Given the description of an element on the screen output the (x, y) to click on. 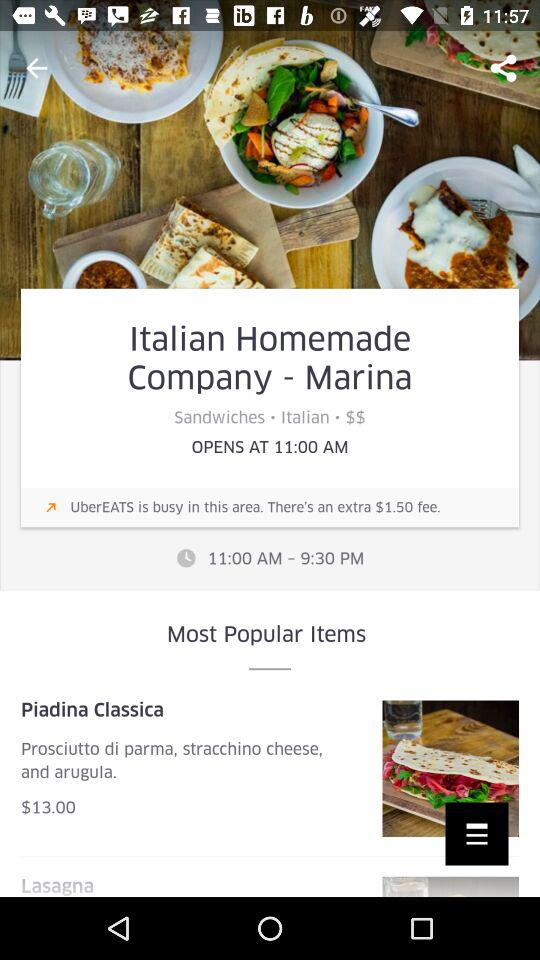
press the icon at the top left corner (36, 68)
